Given the description of an element on the screen output the (x, y) to click on. 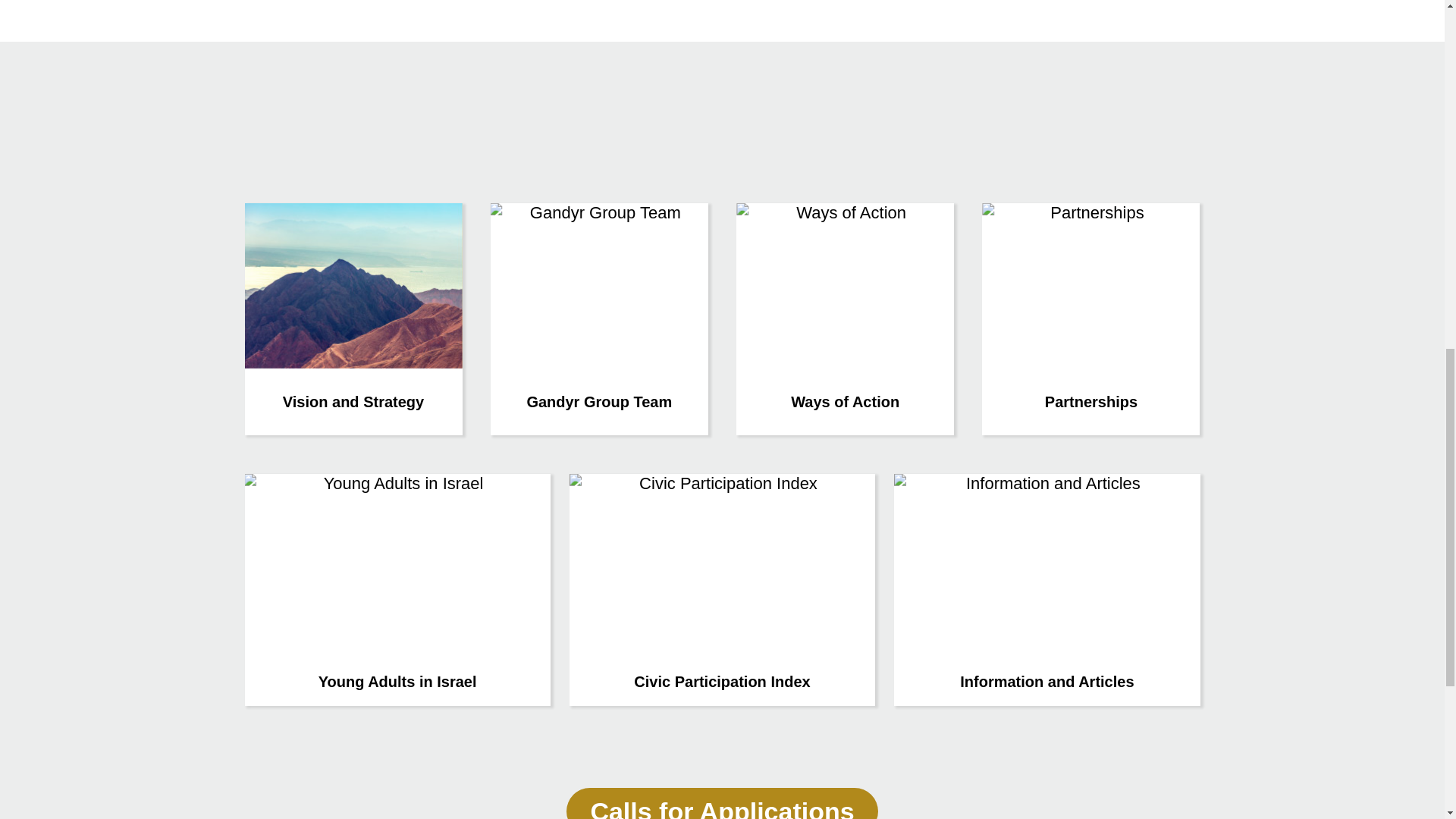
Gandyr Group Team (598, 318)
Ways of Action (844, 318)
Young Adults in Israel (397, 589)
Civic Participation Index (722, 589)
Partnerships (1090, 318)
Information and Articles (1046, 589)
Vision and Strategy (352, 318)
